Given the description of an element on the screen output the (x, y) to click on. 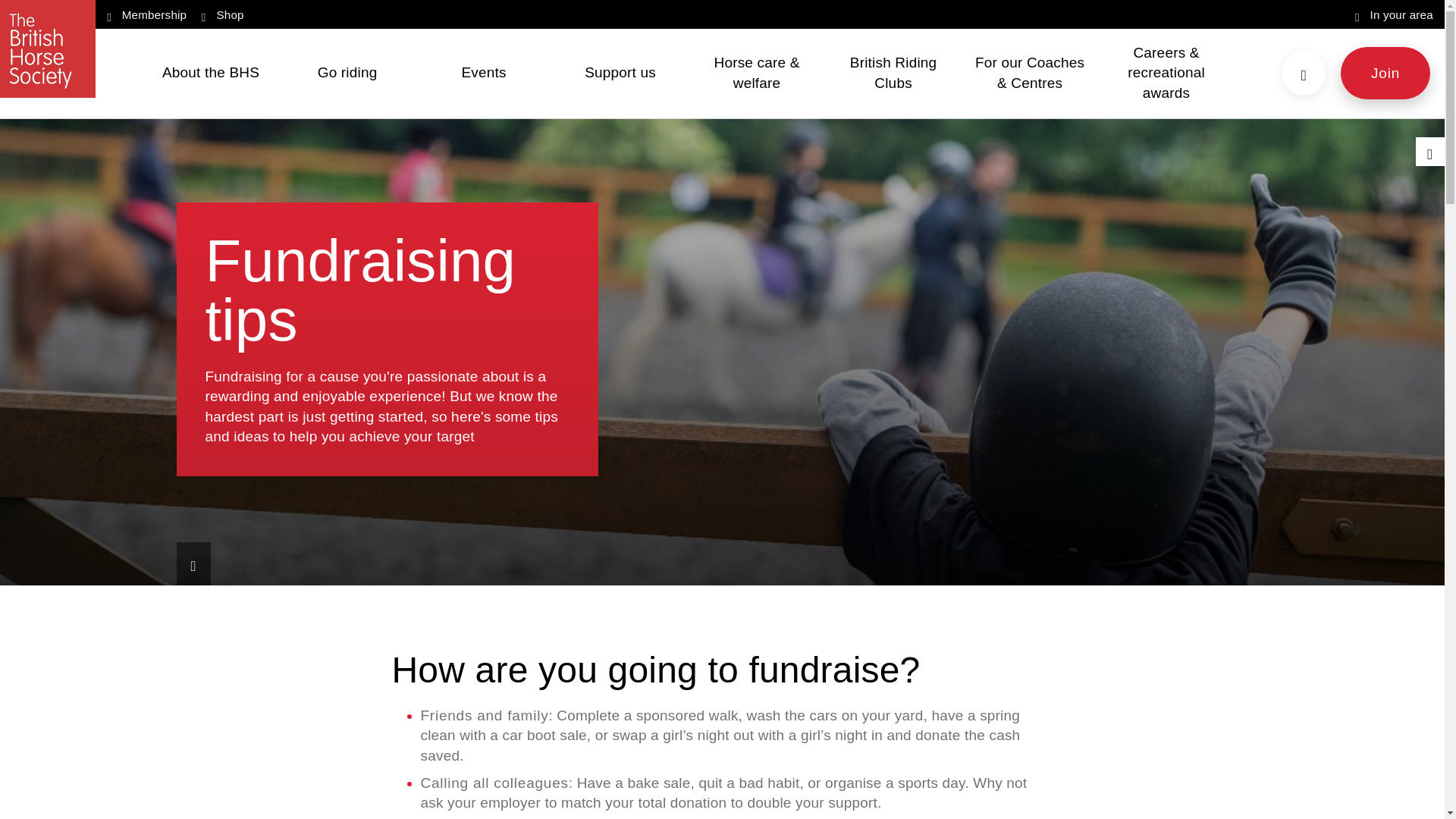
Shop (223, 13)
In your area (1393, 13)
Membership (146, 13)
BHS Logo Small (48, 48)
Go riding (346, 72)
Events (482, 72)
About the BHS (210, 72)
